Given the description of an element on the screen output the (x, y) to click on. 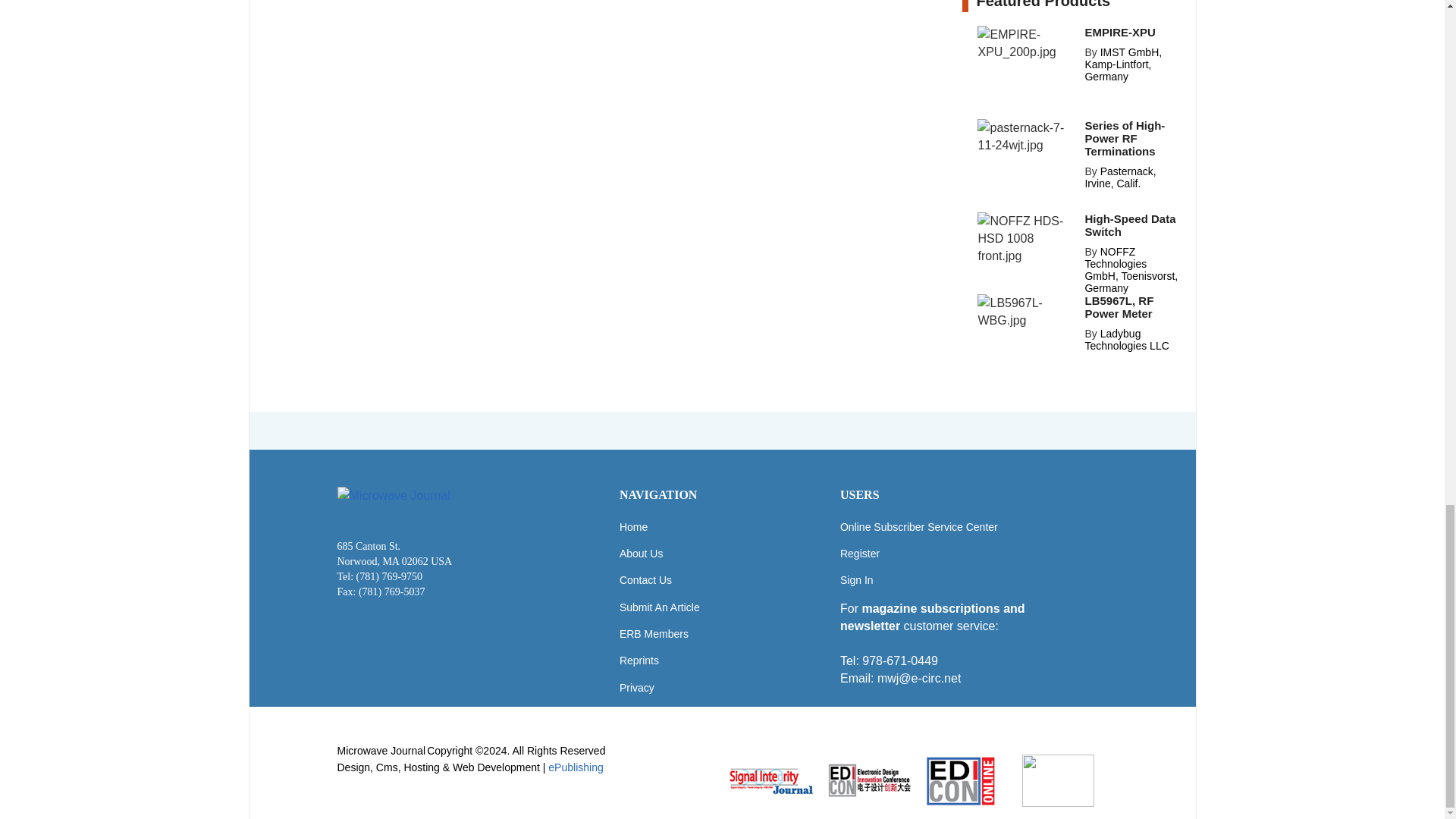
pasternack-7-11-24wjt.jpg (1025, 135)
LB5967L-WBG.jpg (1025, 311)
NOFFZ HDS-HSD 1008 front.jpg (1025, 238)
